Given the description of an element on the screen output the (x, y) to click on. 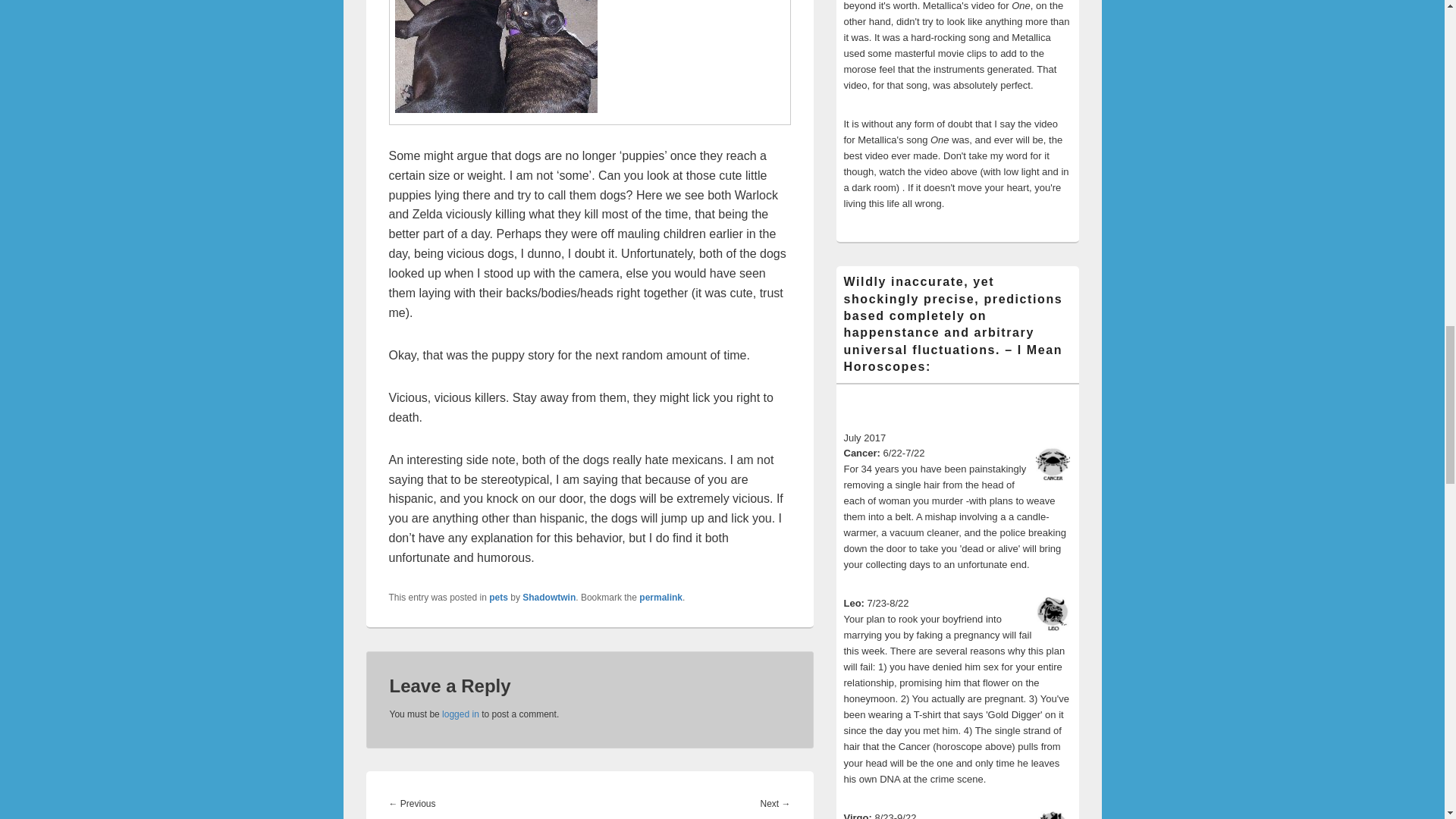
permalink (660, 597)
logged in (460, 714)
pets (498, 597)
Permalink to Warlock and Zelda (660, 597)
Shadowtwin (548, 597)
